Given the description of an element on the screen output the (x, y) to click on. 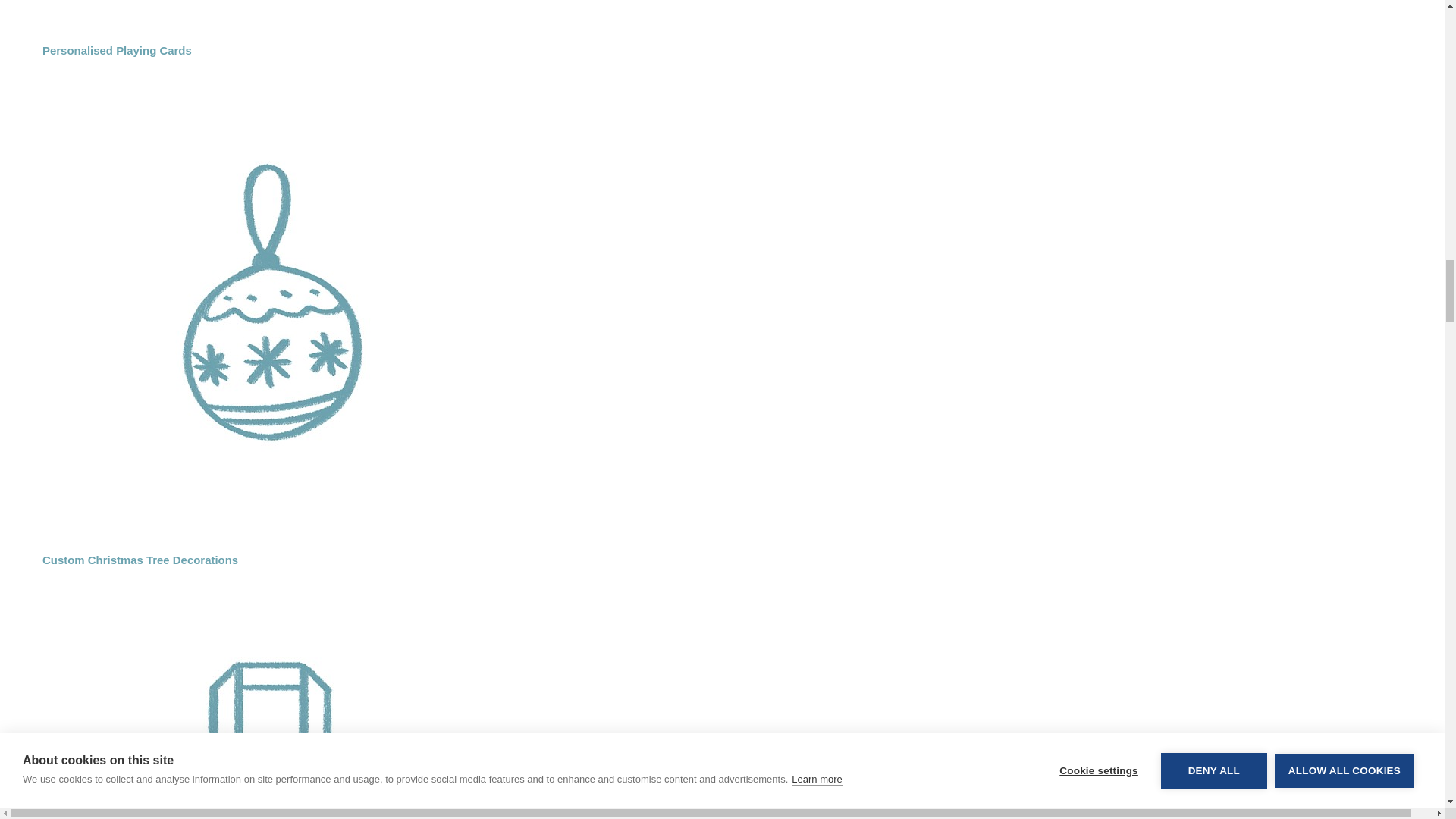
Personalised Playing Cards (624, 28)
